Given the description of an element on the screen output the (x, y) to click on. 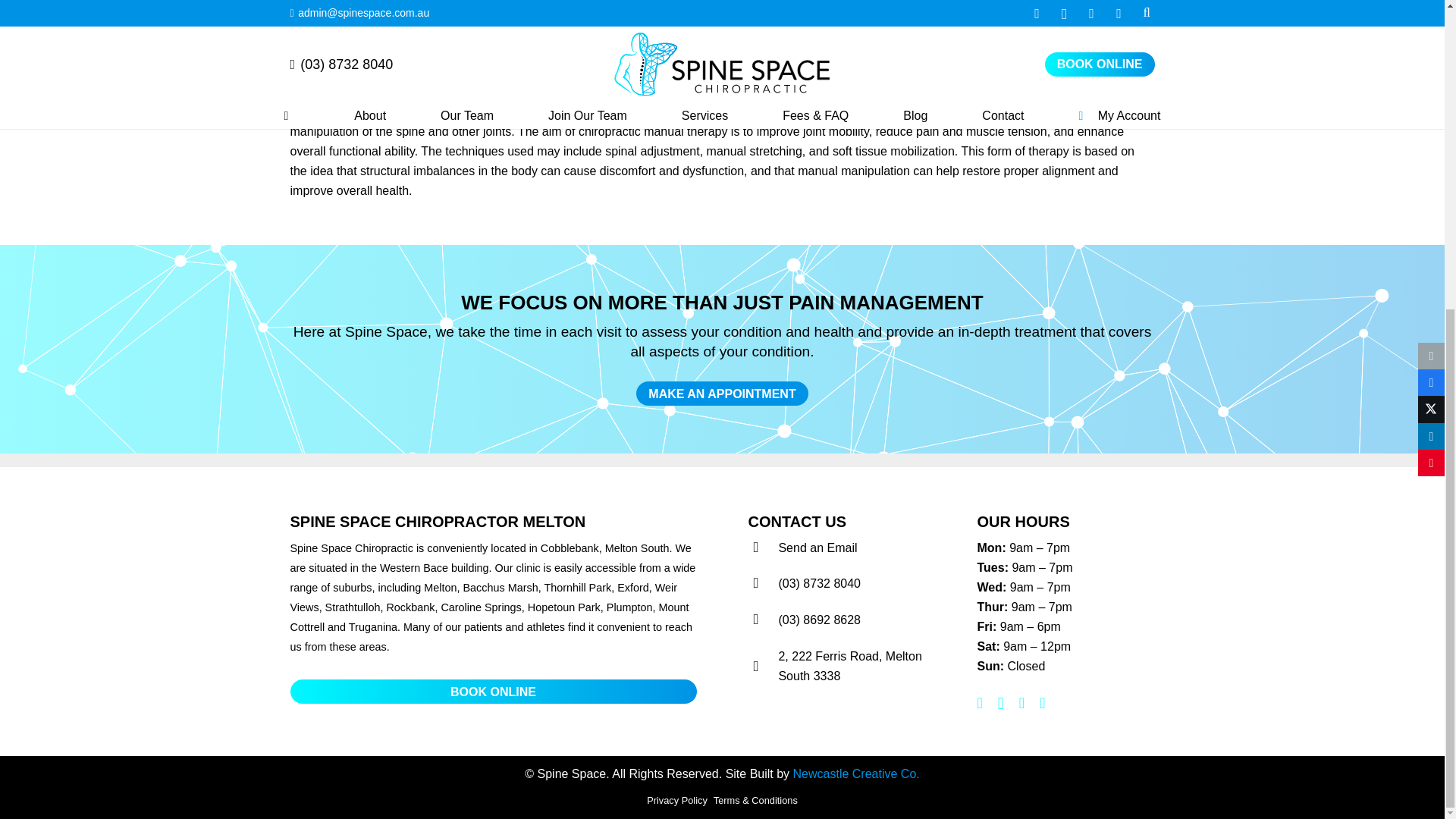
Book Online (492, 202)
MAKE AN APPOINTMENT (722, 393)
